Given the description of an element on the screen output the (x, y) to click on. 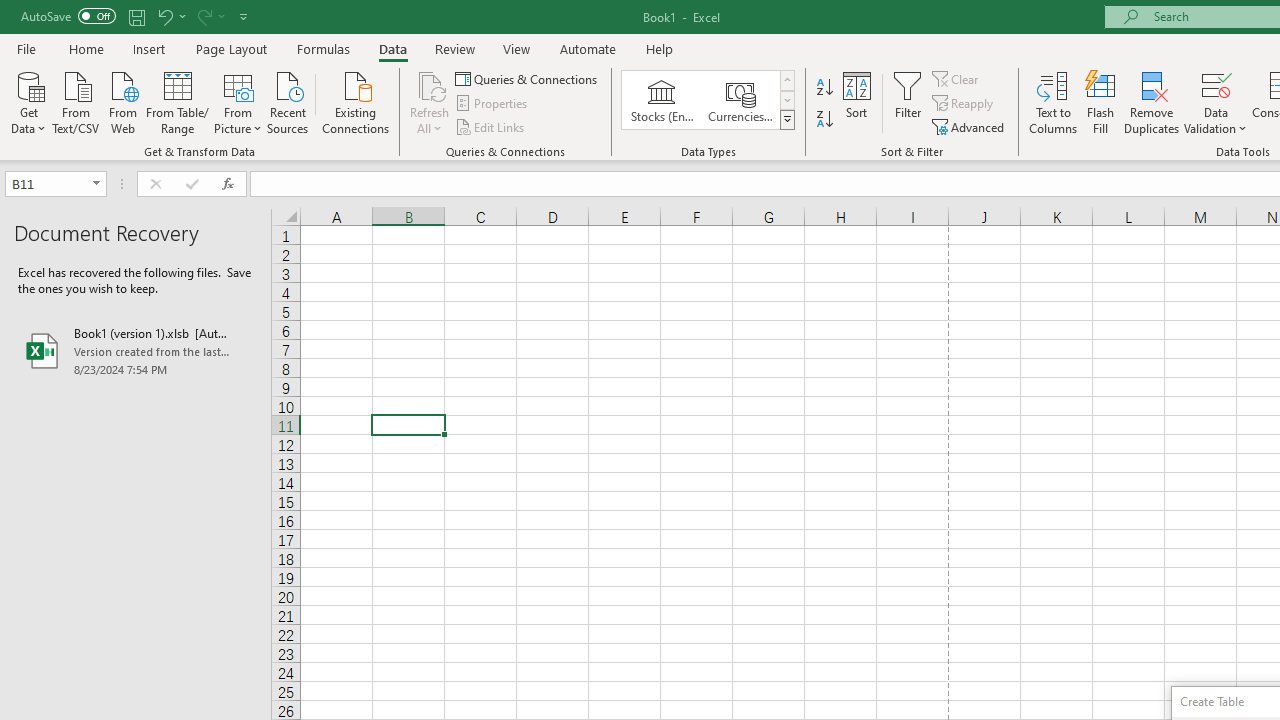
From Table/Range (177, 101)
Queries & Connections (527, 78)
Data Types (786, 120)
Stocks (English) (662, 100)
Advanced... (970, 126)
